Given the description of an element on the screen output the (x, y) to click on. 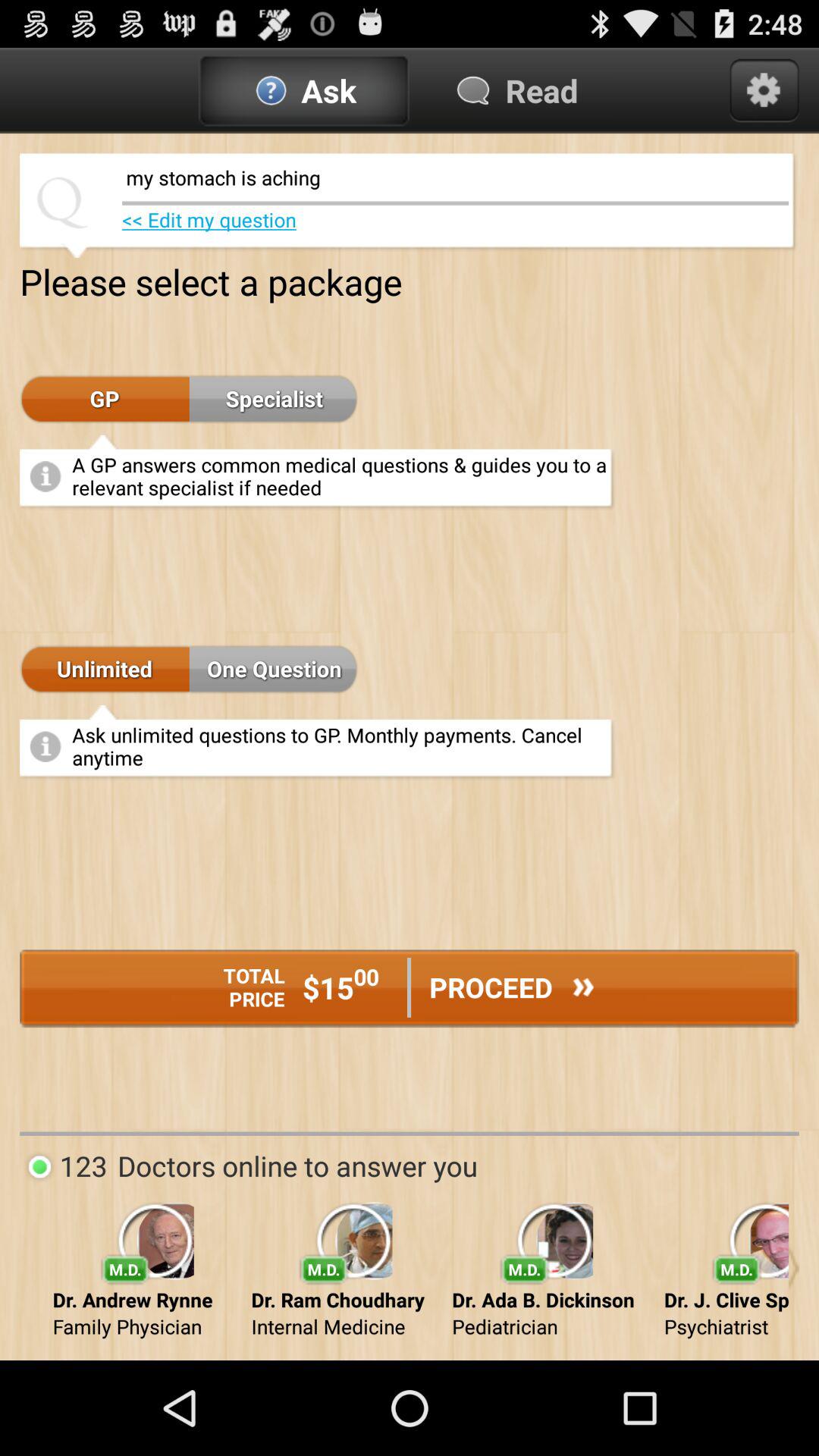
show settings (764, 90)
